Given the description of an element on the screen output the (x, y) to click on. 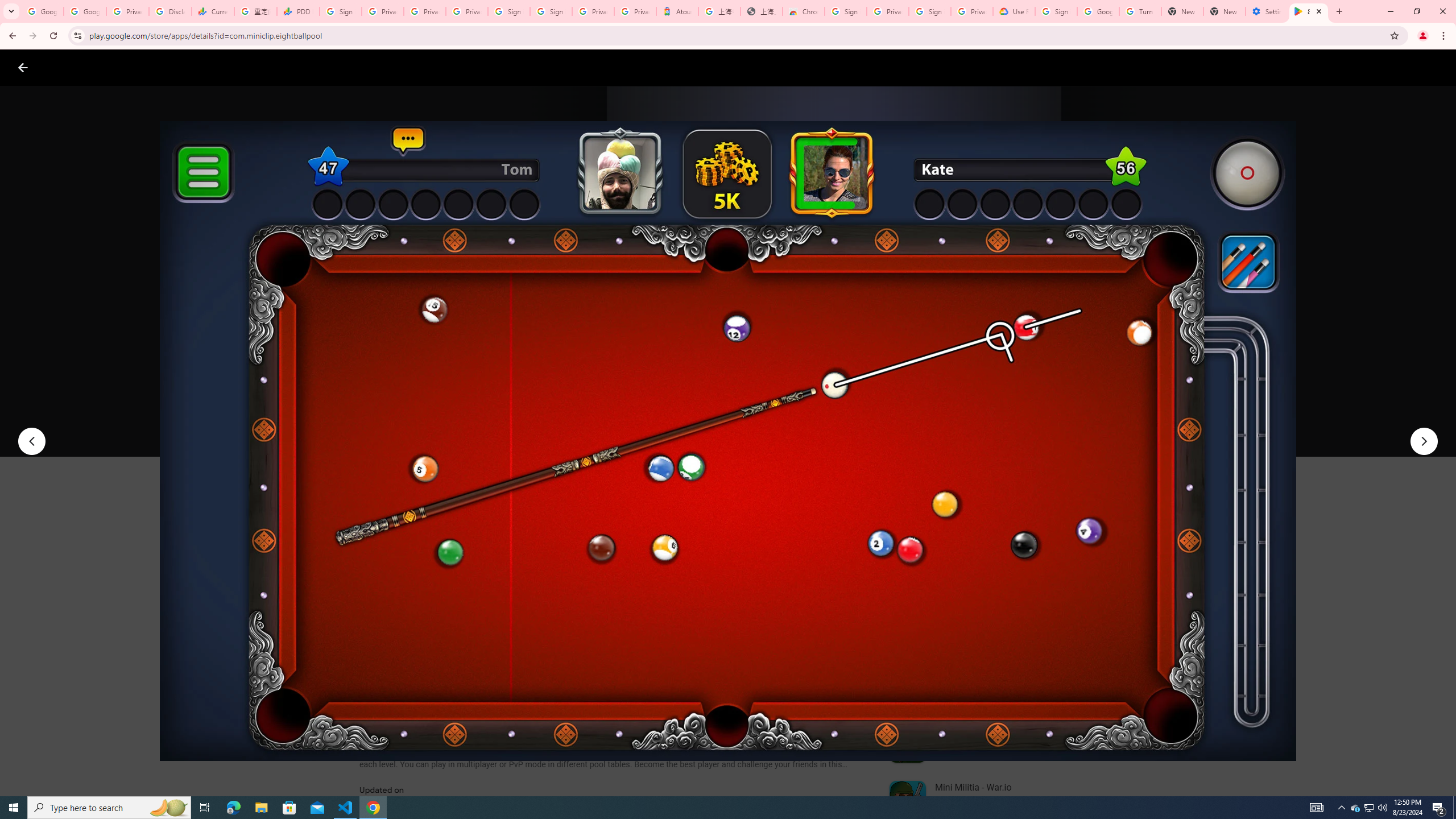
Sign in - Google Accounts (340, 11)
Settings - System (1266, 11)
Chrome Web Store - Color themes by Chrome (803, 11)
Screenshot image (817, 563)
Previous (31, 441)
More info about this content rating (575, 385)
Share (506, 422)
Atour Hotel - Google hotels (676, 11)
Install (416, 423)
See more information on More by Miniclip.com (1029, 539)
